Given the description of an element on the screen output the (x, y) to click on. 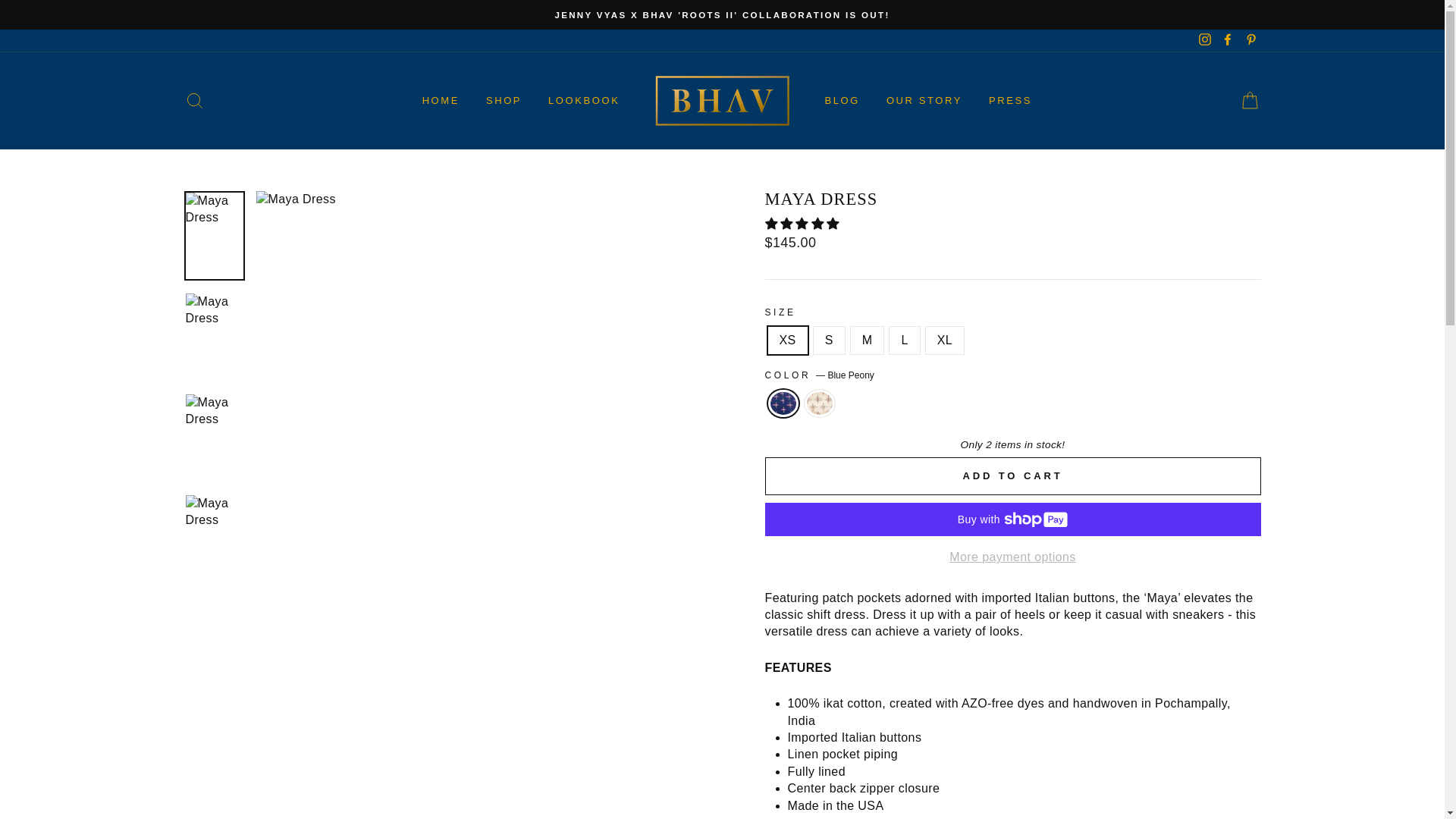
Instagram (1204, 40)
BHAV on Pinterest (1250, 40)
OUR STORY (924, 100)
Pinterest (1250, 40)
SEARCH (194, 101)
BLOG (841, 100)
BHAV on Facebook (1227, 40)
